Given the description of an element on the screen output the (x, y) to click on. 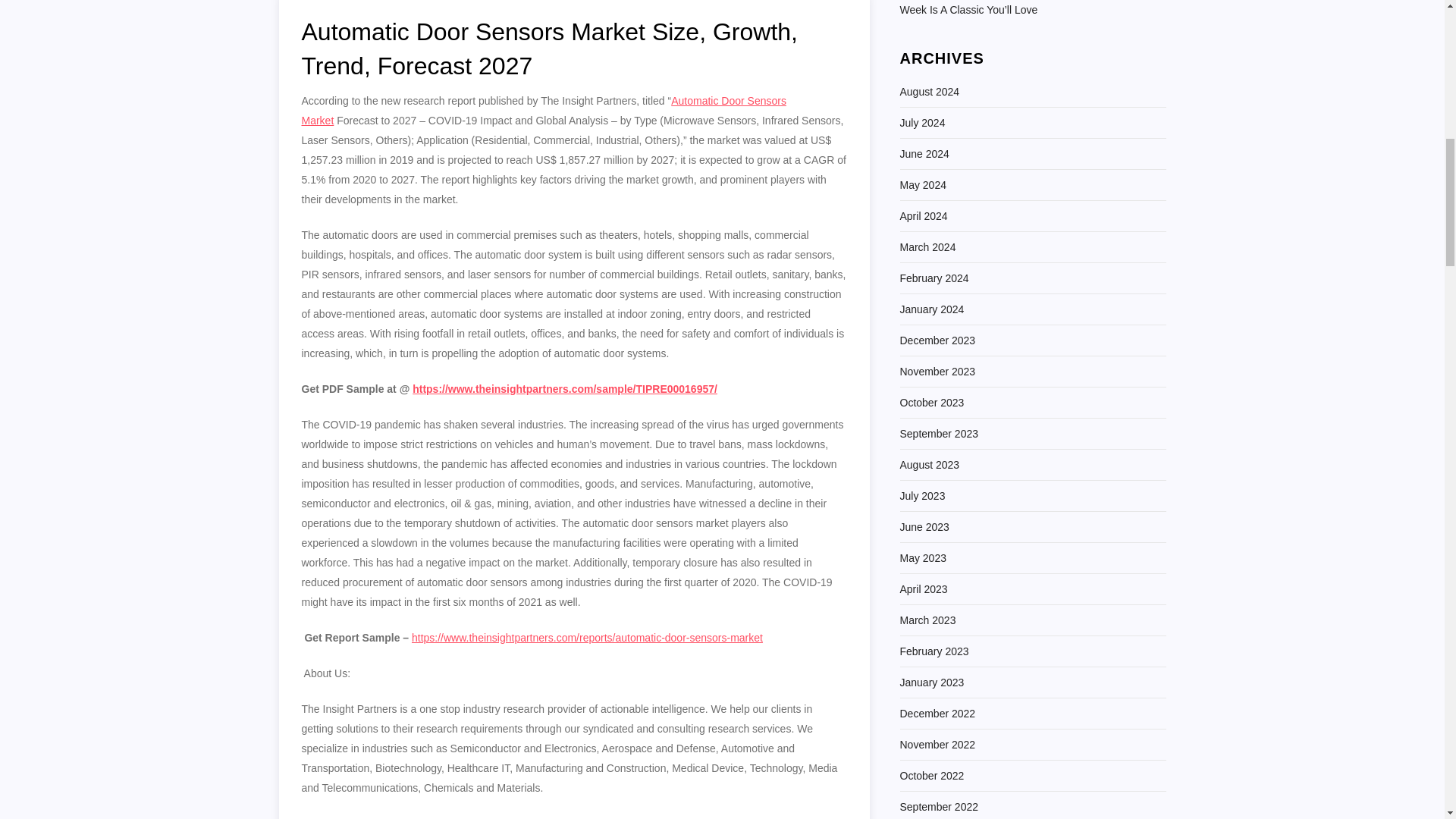
June 2024 (924, 153)
August 2024 (929, 91)
Automatic Door Sensors Market (543, 110)
July 2024 (921, 122)
May 2024 (921, 184)
